Given the description of an element on the screen output the (x, y) to click on. 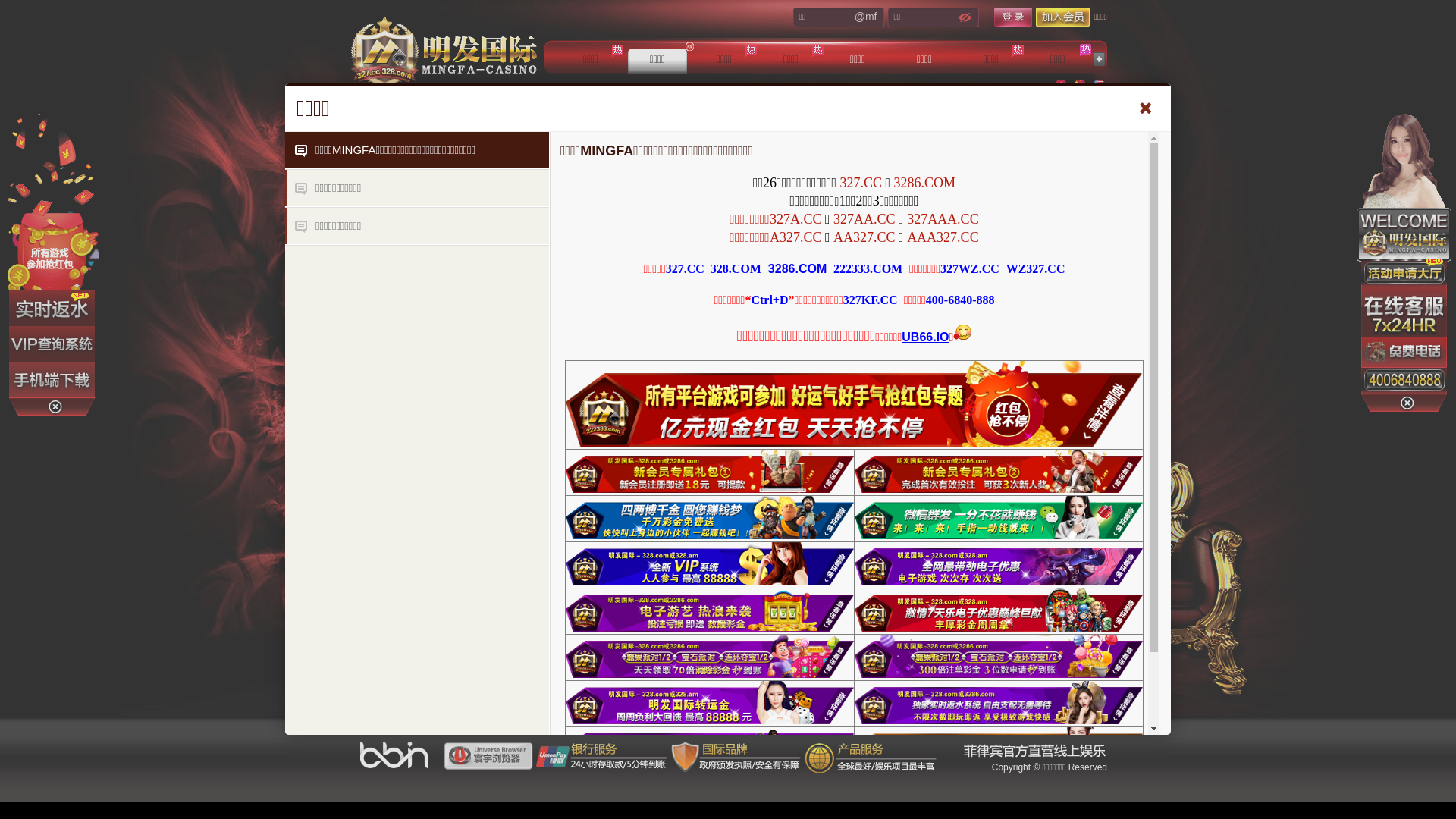
327KF.CC Element type: text (870, 299)
UB66.IO Element type: text (924, 336)
English Element type: hover (1098, 86)
